Given the description of an element on the screen output the (x, y) to click on. 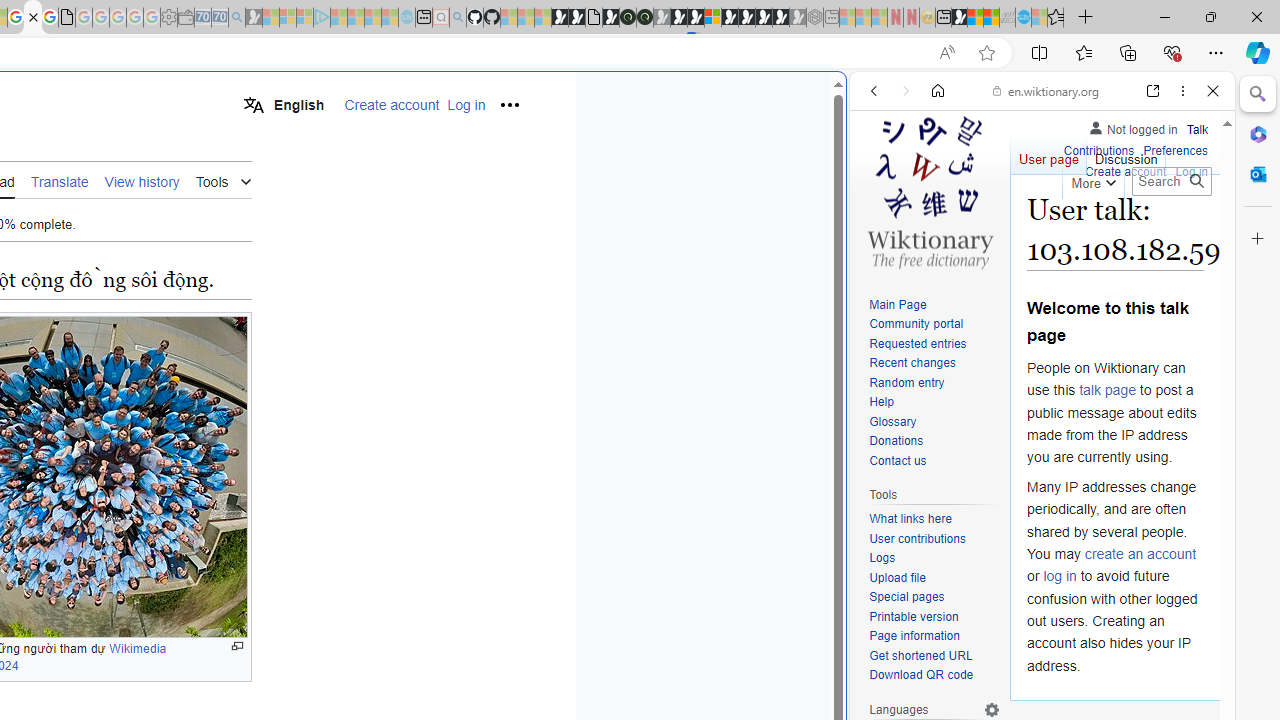
Download QR code (921, 675)
Translate (59, 181)
Language settings (992, 709)
Page information (914, 636)
Contact us (934, 461)
Sign in to your account (712, 17)
log in (1059, 576)
